Given the description of an element on the screen output the (x, y) to click on. 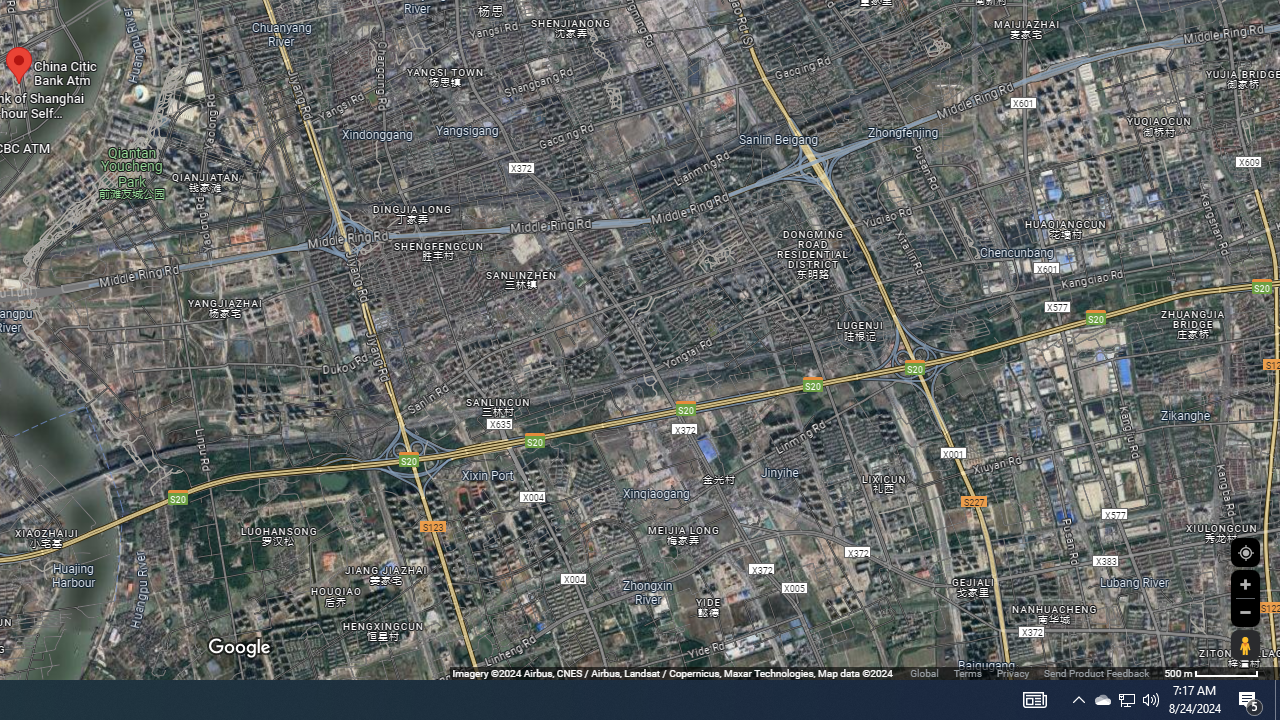
Zoom in (1245, 584)
Show Street View coverage (1245, 645)
500 m (1211, 672)
Show Your Location (1245, 552)
Send Product Feedback (1096, 672)
Privacy (1012, 672)
Global (924, 672)
Zoom out (1245, 612)
